Given the description of an element on the screen output the (x, y) to click on. 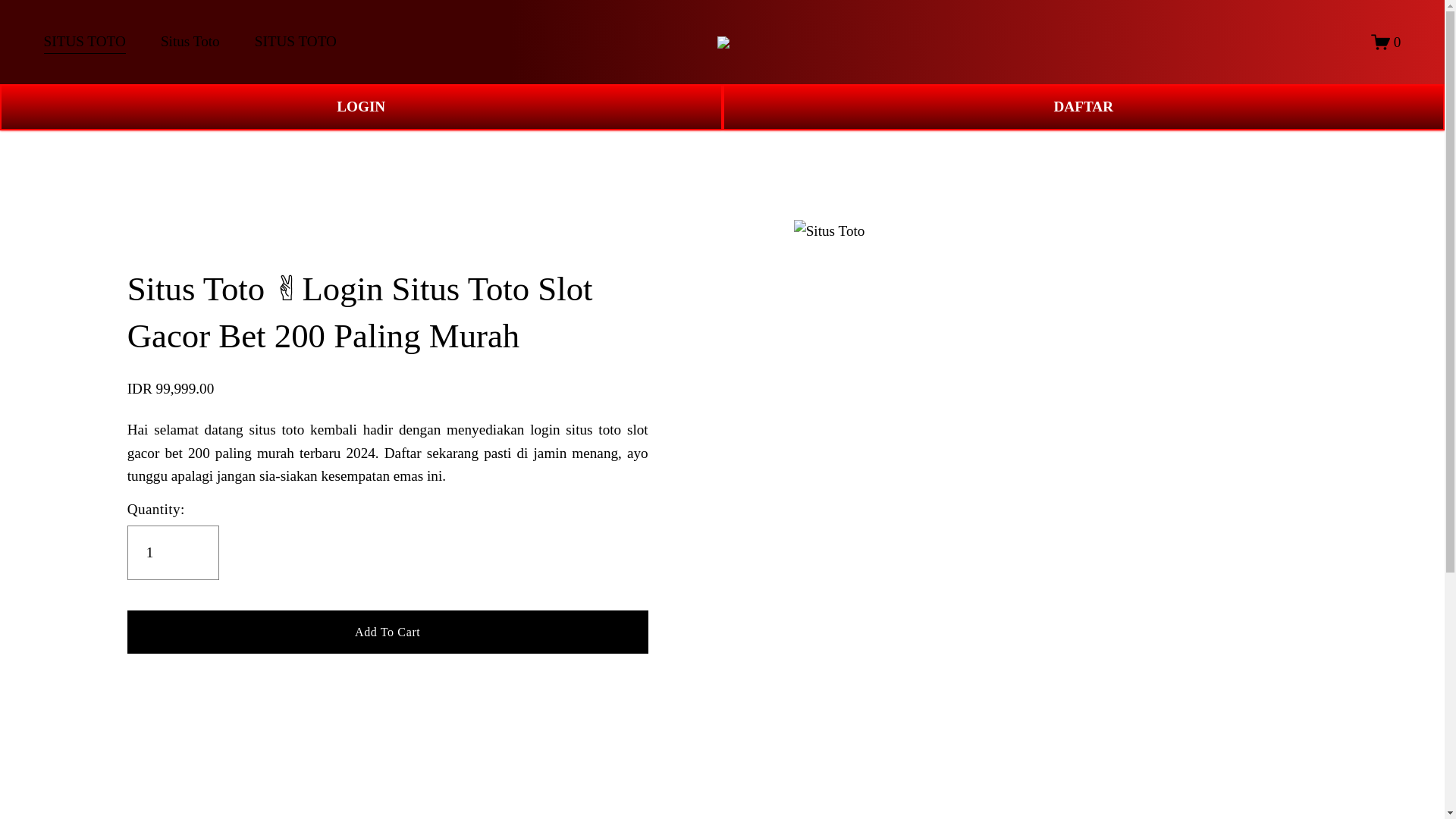
0 (1385, 41)
SITUS TOTO (84, 41)
LOGIN (361, 107)
Situs Toto (189, 41)
Add To Cart (387, 631)
SITUS TOTO (295, 41)
1 (173, 552)
